Given the description of an element on the screen output the (x, y) to click on. 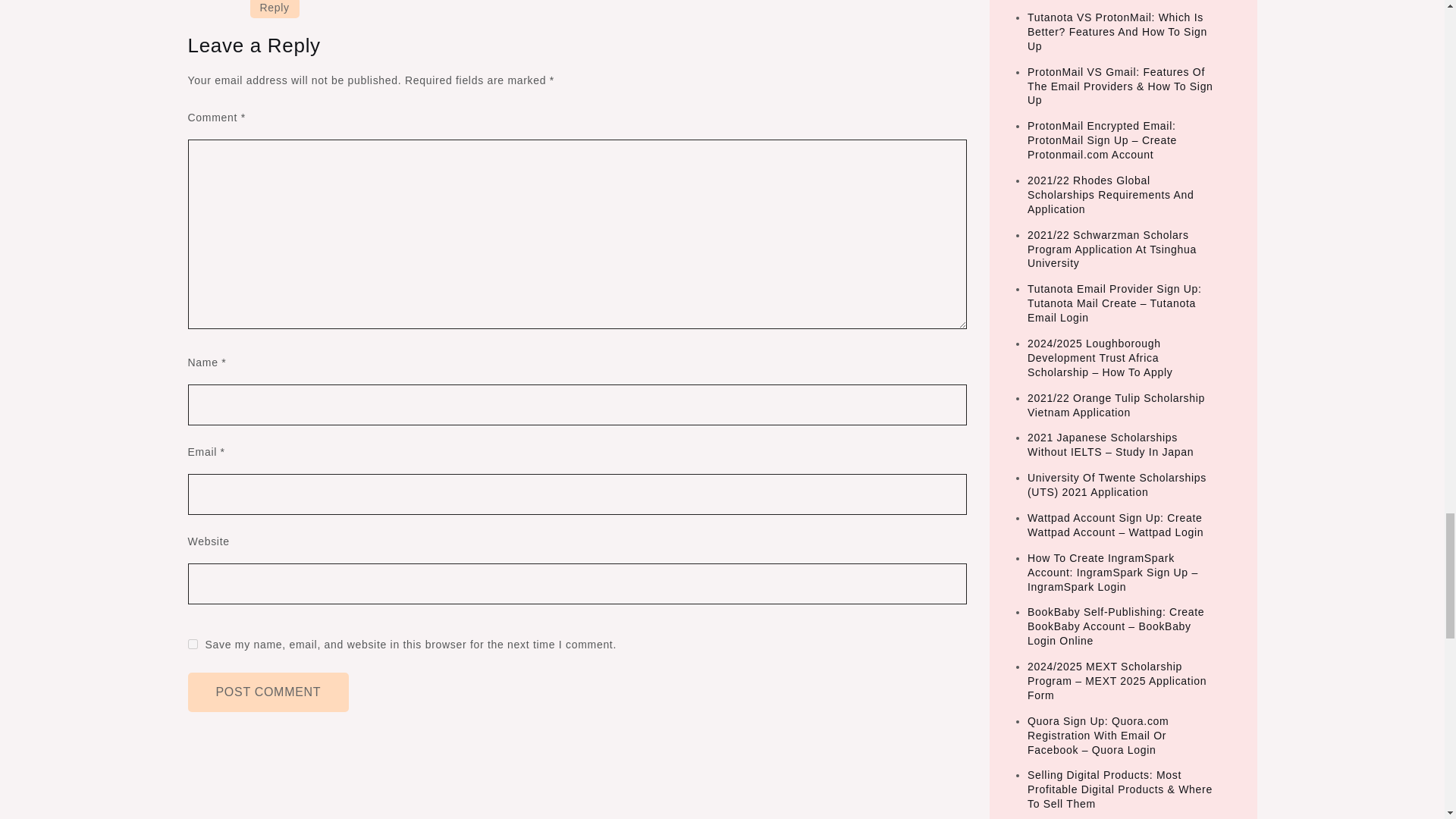
Post Comment (268, 691)
Post Comment (268, 691)
yes (192, 644)
Reply (274, 9)
